Given the description of an element on the screen output the (x, y) to click on. 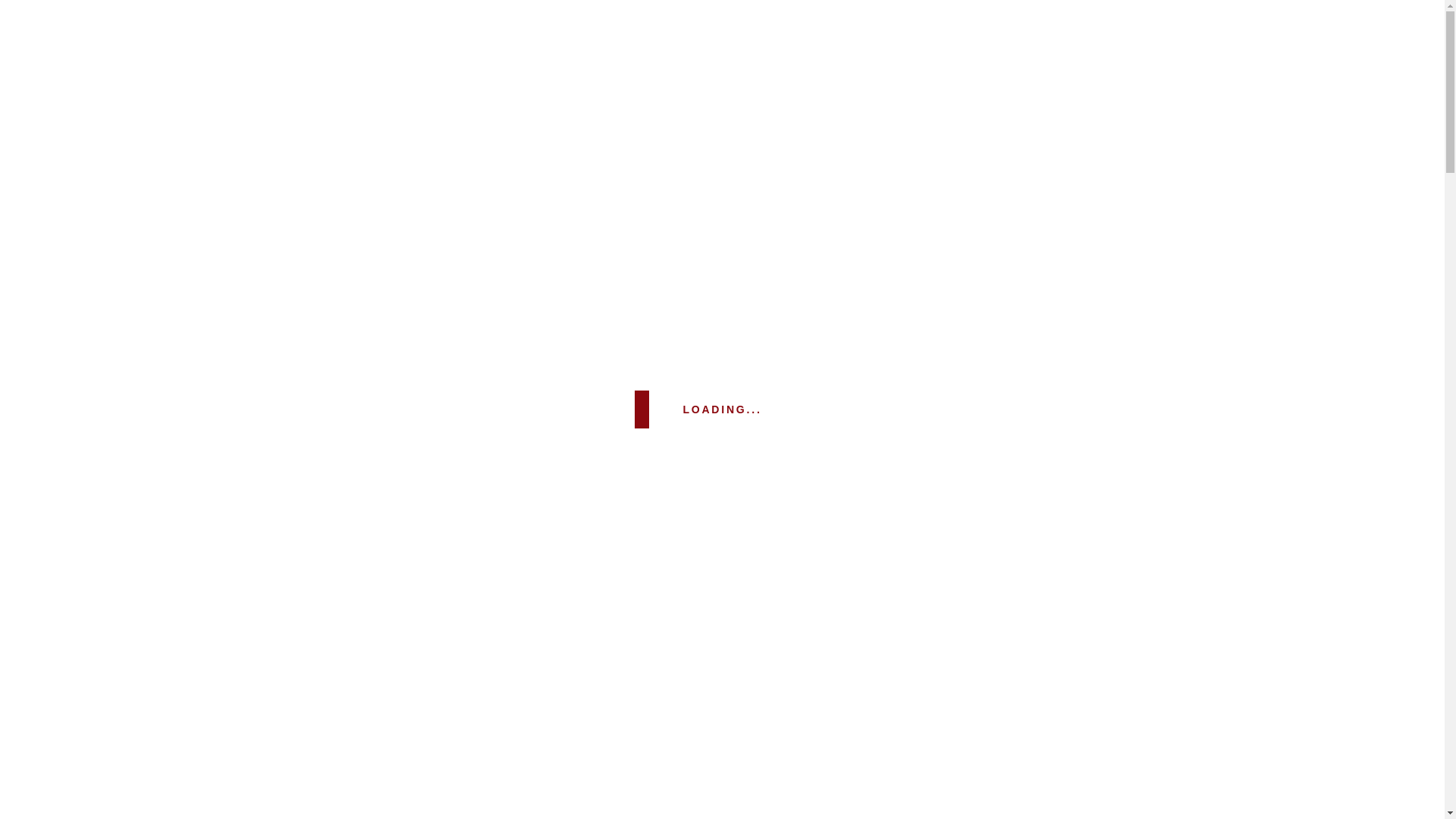
CONTACT Element type: text (826, 81)
LAW GUIDES Element type: text (575, 81)
ABOUT US Element type: text (365, 81)
CAIRNS OFFICE
14 Spence St,
Cairns City QLD 4870 Element type: text (851, 29)
TESTIMONIALS Element type: text (675, 81)
BRISBANE OFFICE
Level 10, 95 North Quay,
Brisbane, QLD 4000. Element type: text (600, 29)
BLOG Element type: text (757, 81)
PRACTICE AREAS Element type: text (467, 81)
1800 662 535 Element type: text (1076, 37)
CALL US ON
1800 662 535 Element type: text (1051, 705)
BOOK AN APPOINTMENT Element type: text (1051, 655)
HOME Element type: text (301, 81)
BOOKING WITH A LAWYER Element type: text (1044, 81)
MILTON OFFICE
Level 2/52 McDougall St,
Milton, QLD 4064 Element type: text (729, 29)
